Given the description of an element on the screen output the (x, y) to click on. 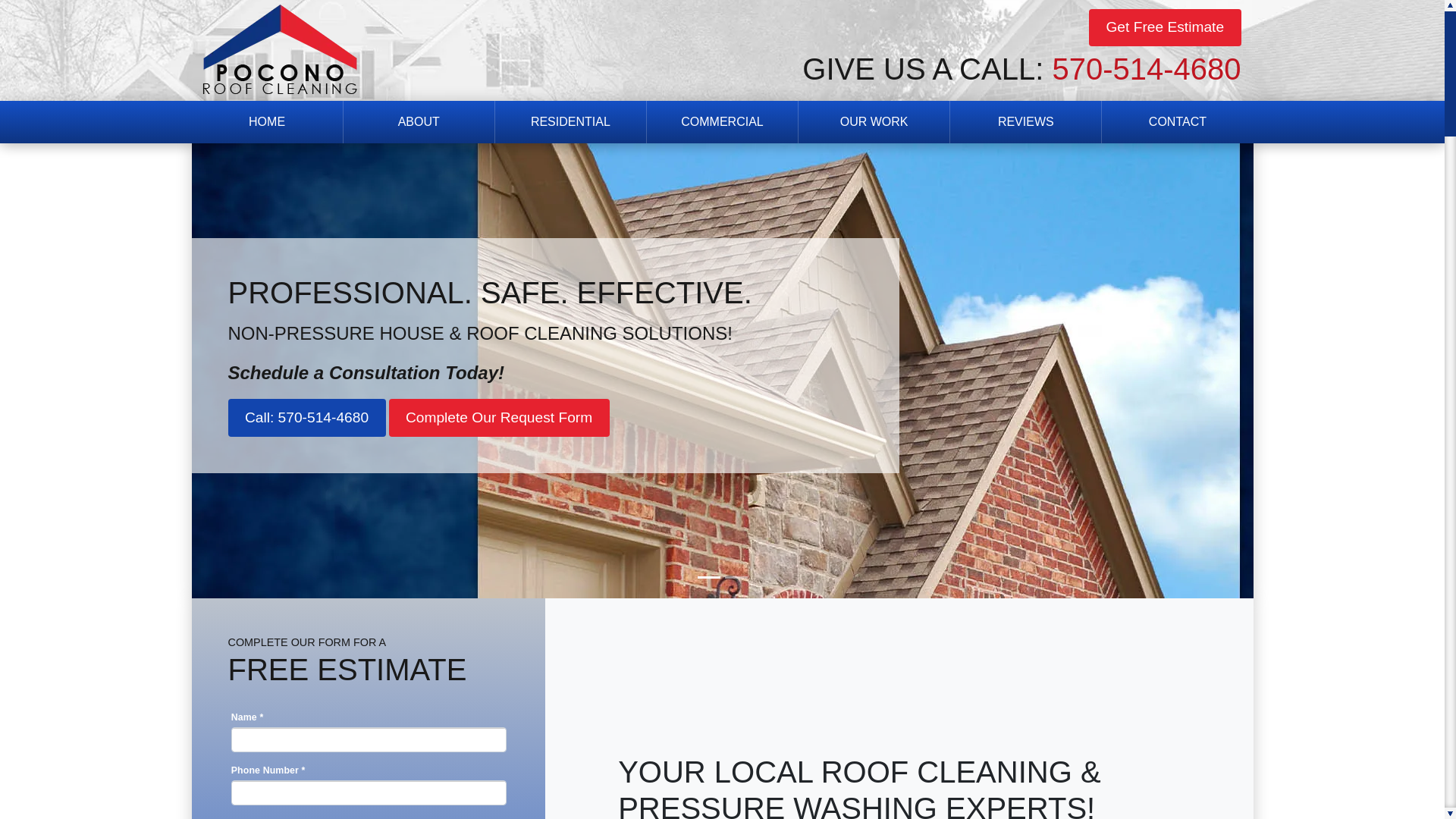
HOME (267, 121)
ABOUT (419, 121)
Get Free Estimate (1164, 27)
570-514-4680 (1145, 68)
RESIDENTIAL (570, 121)
